Given the description of an element on the screen output the (x, y) to click on. 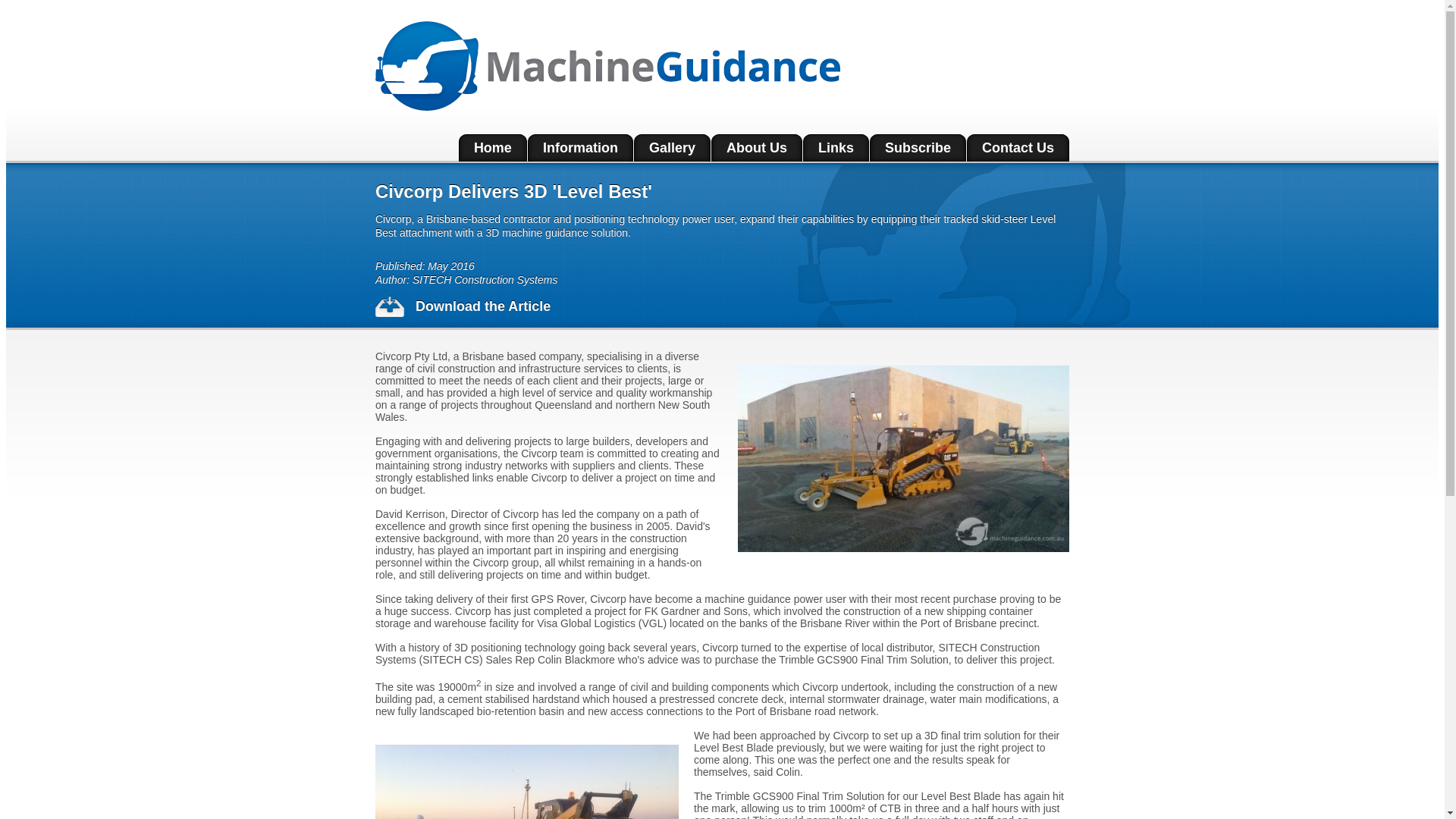
Home Element type: text (492, 147)
Contact Us Element type: text (1017, 147)
Gallery Element type: text (671, 147)
Information Element type: text (580, 147)
Links Element type: text (836, 147)
Machine Guidance for Skid Steer 'Level Best' Attachment  Element type: hover (903, 458)
About Us Element type: text (756, 147)
Subscribe Element type: text (917, 147)
Download the Article Element type: text (722, 305)
